Given the description of an element on the screen output the (x, y) to click on. 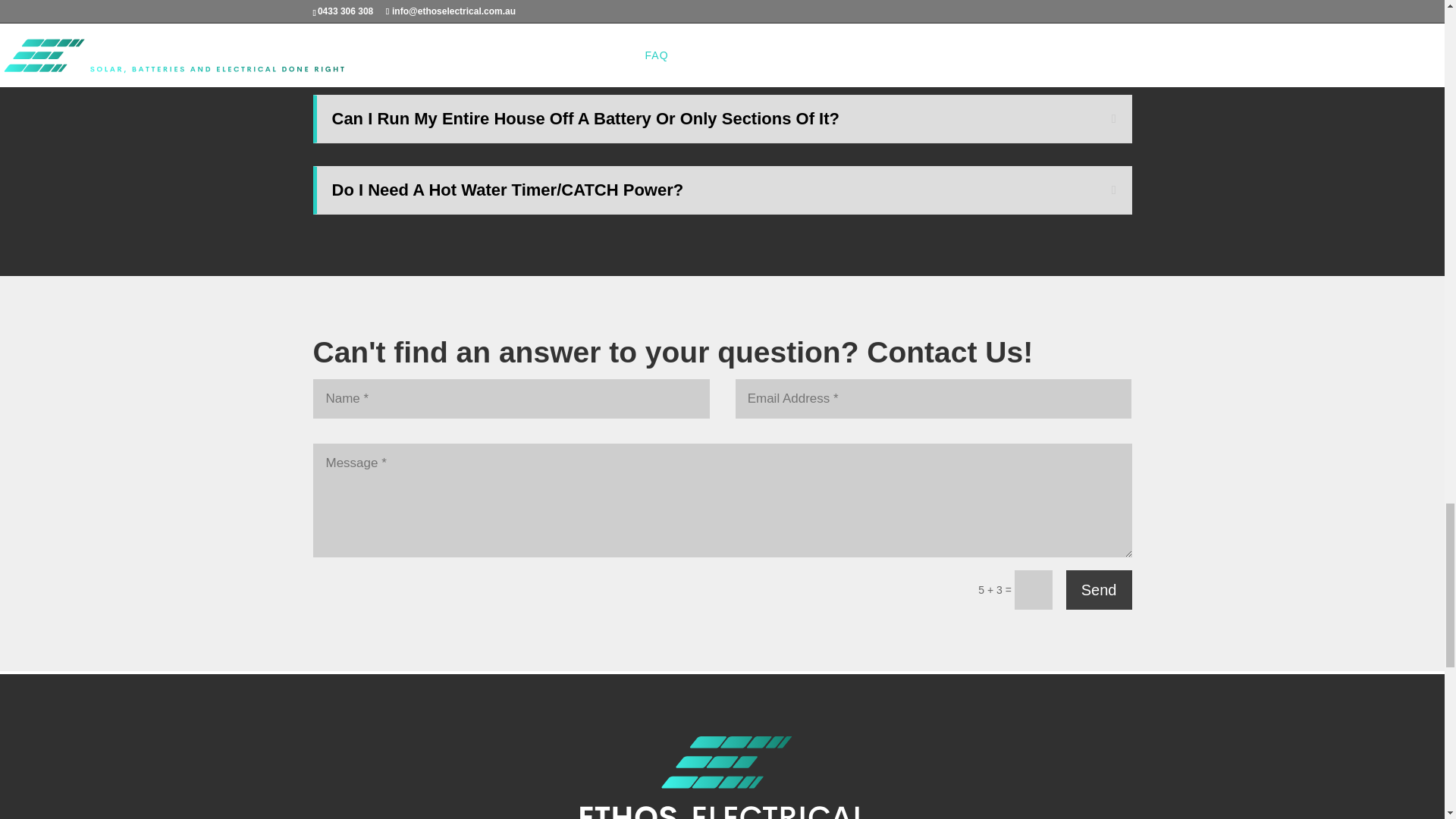
New Logo Vertical White (722, 777)
Send (1098, 589)
